Given the description of an element on the screen output the (x, y) to click on. 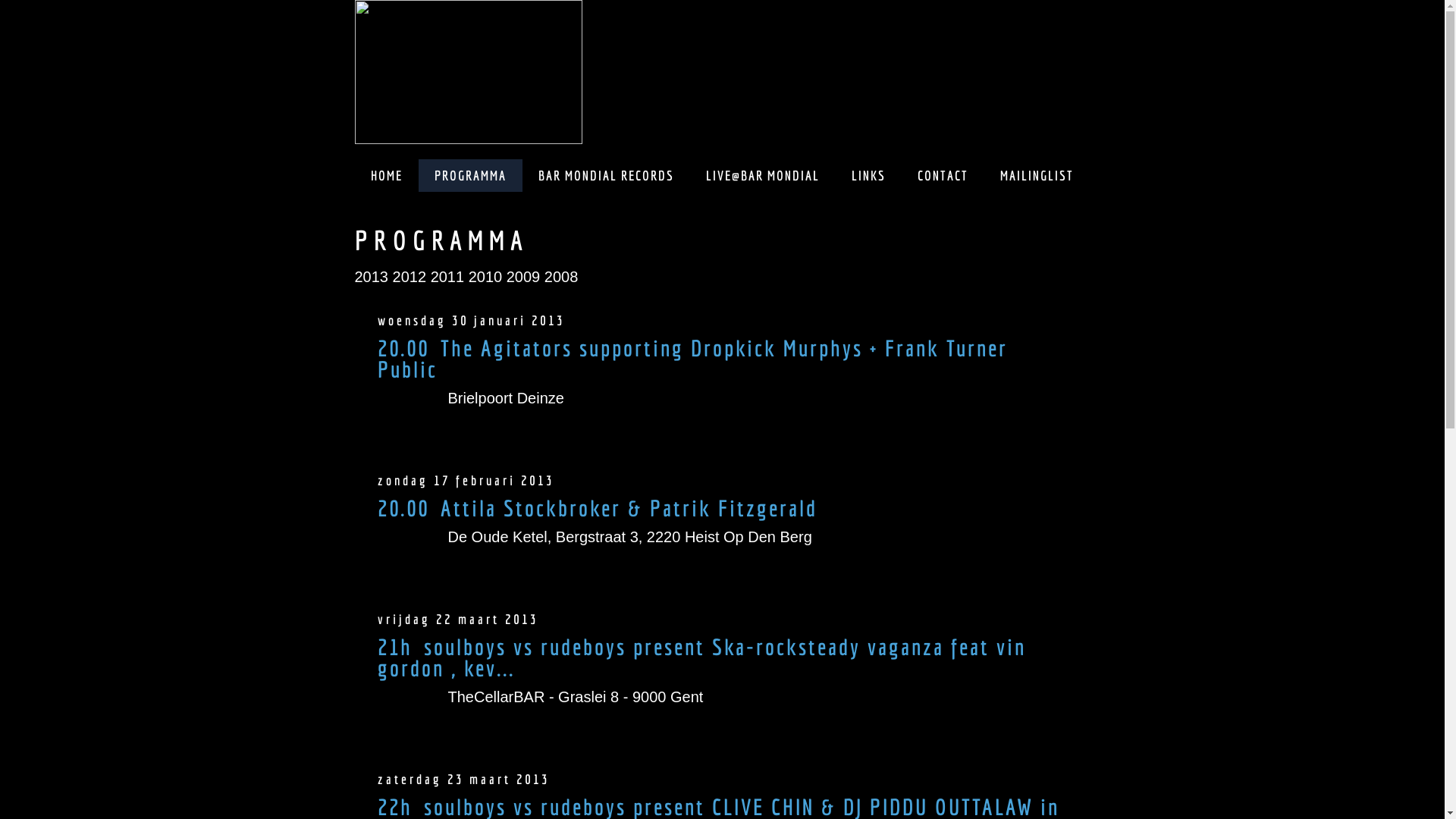
HOME Element type: text (385, 175)
PROGRAMMA Element type: text (469, 175)
